Given the description of an element on the screen output the (x, y) to click on. 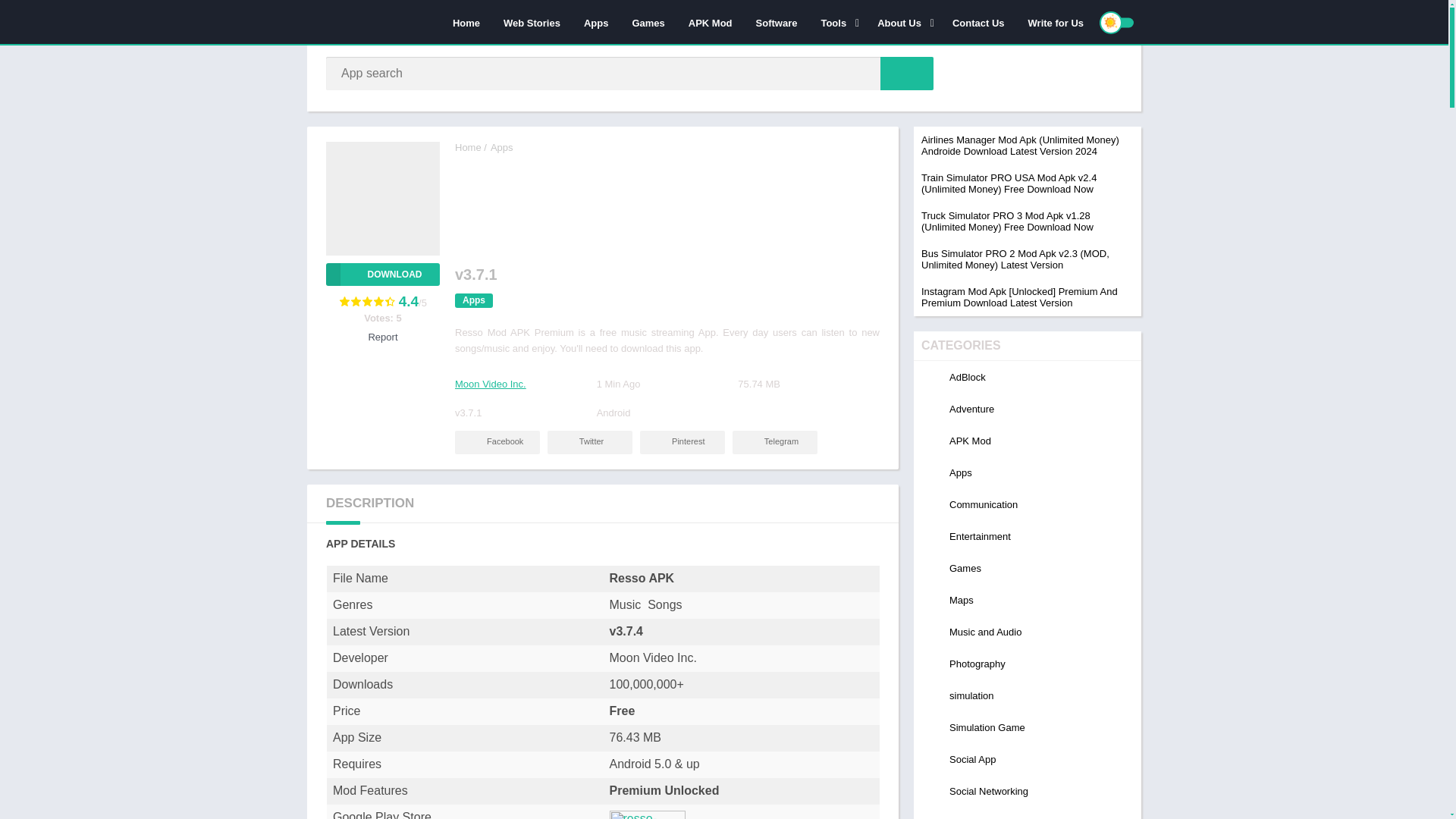
DOWNLOAD (382, 273)
APK Mod (710, 22)
Download (382, 273)
Games (647, 22)
App search (906, 73)
Twitter (589, 442)
Home (466, 22)
Write for Us (1055, 22)
Moon Video Inc. (489, 383)
Contact Us (978, 22)
Apps (501, 147)
Pinterest (682, 442)
About Us (903, 22)
Web Stories (532, 22)
Facebook (497, 442)
